Given the description of an element on the screen output the (x, y) to click on. 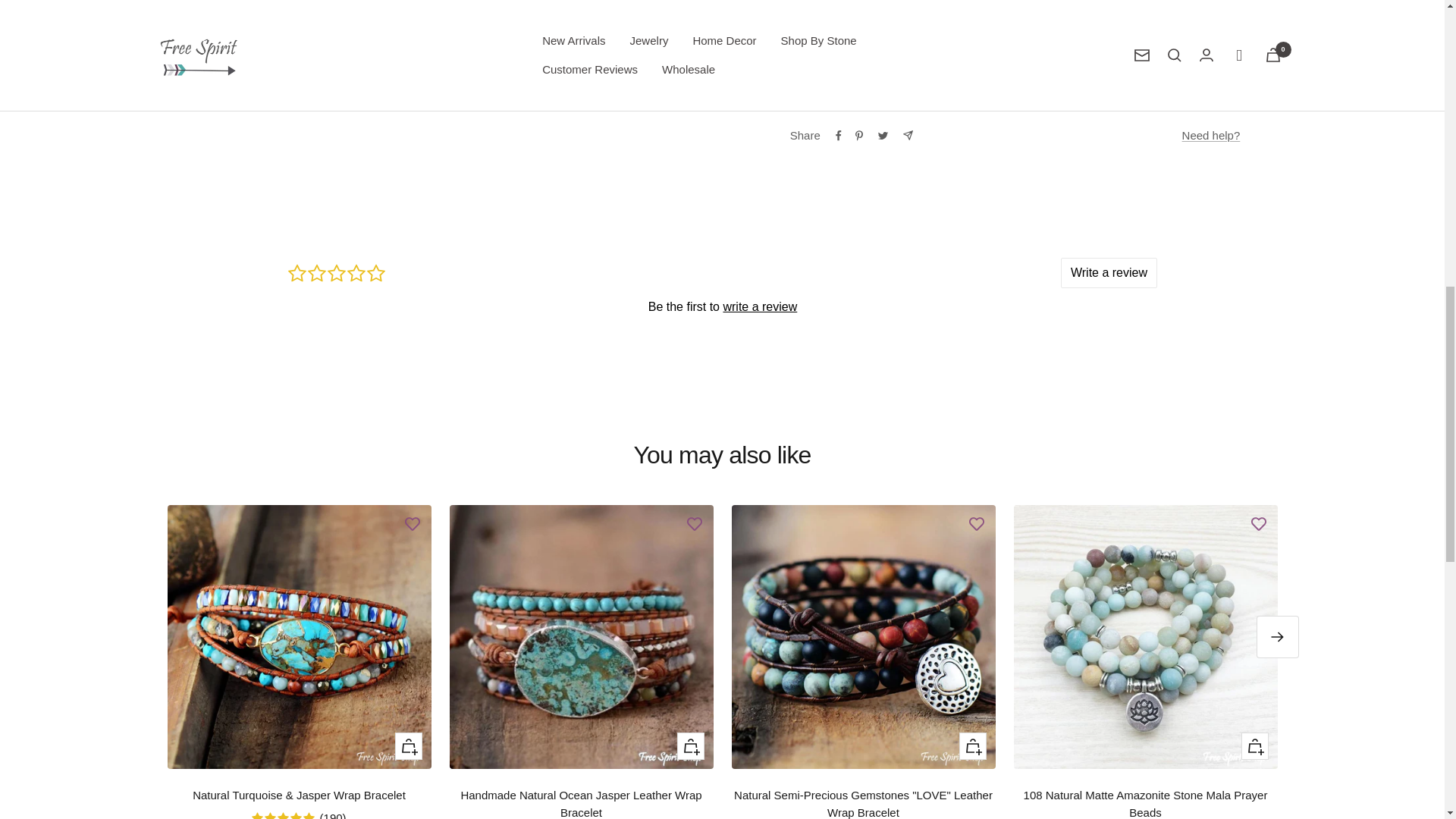
ADD TO WISHLIST (975, 523)
ADD TO WISHLIST (412, 523)
ADD TO WISHLIST (694, 523)
Product reviews widget (721, 305)
ADD TO WISHLIST (1258, 523)
